Given the description of an element on the screen output the (x, y) to click on. 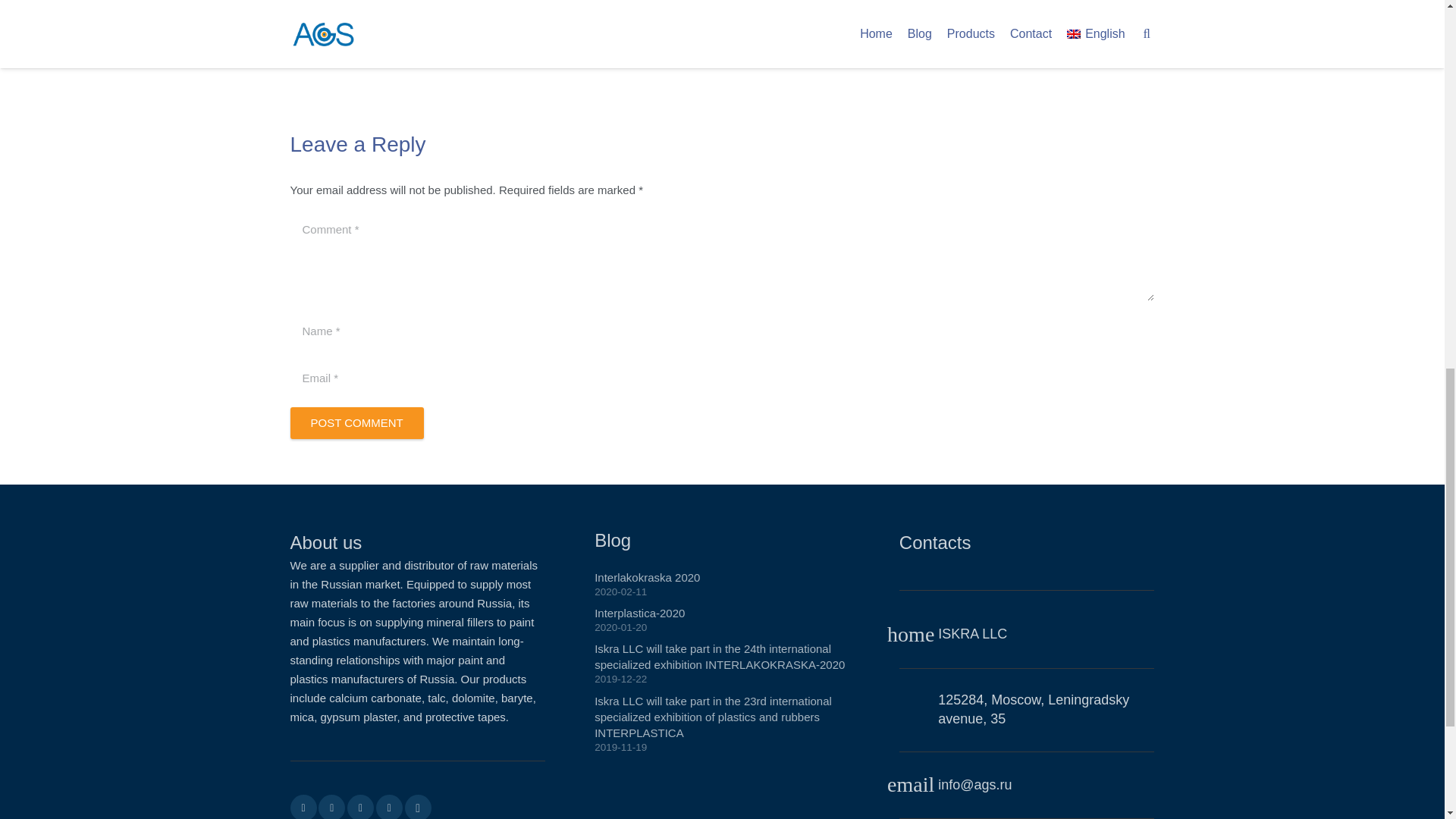
Behance (389, 806)
Facebook (302, 806)
Google (360, 806)
Twitter (331, 806)
POST COMMENT (356, 422)
